Given the description of an element on the screen output the (x, y) to click on. 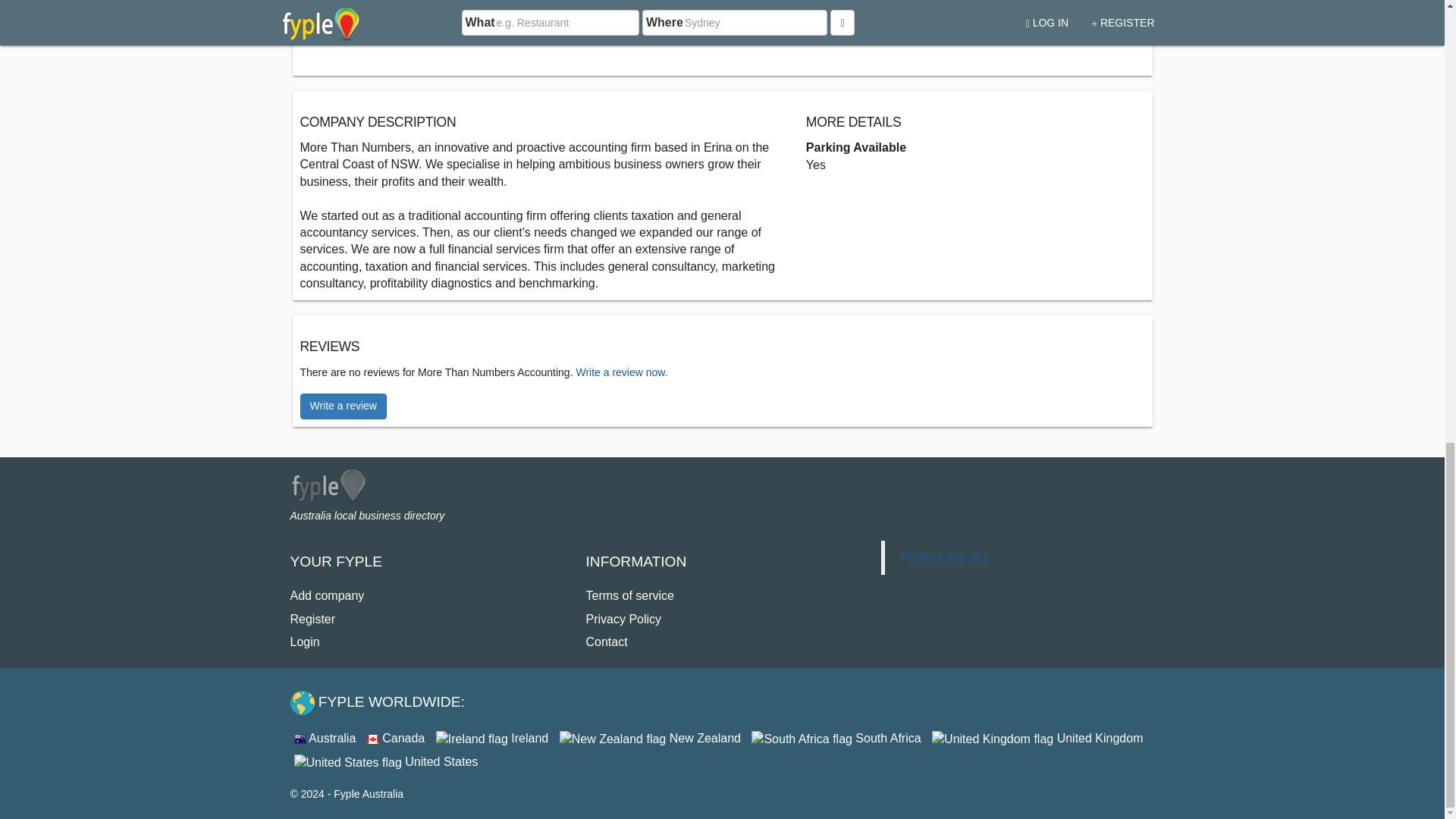
Fyple United Kingdom (1036, 738)
Write a review now. (620, 372)
Write a review (343, 406)
Fyple South Africa (835, 738)
Fyple Canada (395, 738)
Fyple United States (386, 761)
Add company (326, 594)
Fyple Republic of Ireland (491, 738)
Fyple Australia (325, 738)
Fyple New Zealand (650, 738)
